Given the description of an element on the screen output the (x, y) to click on. 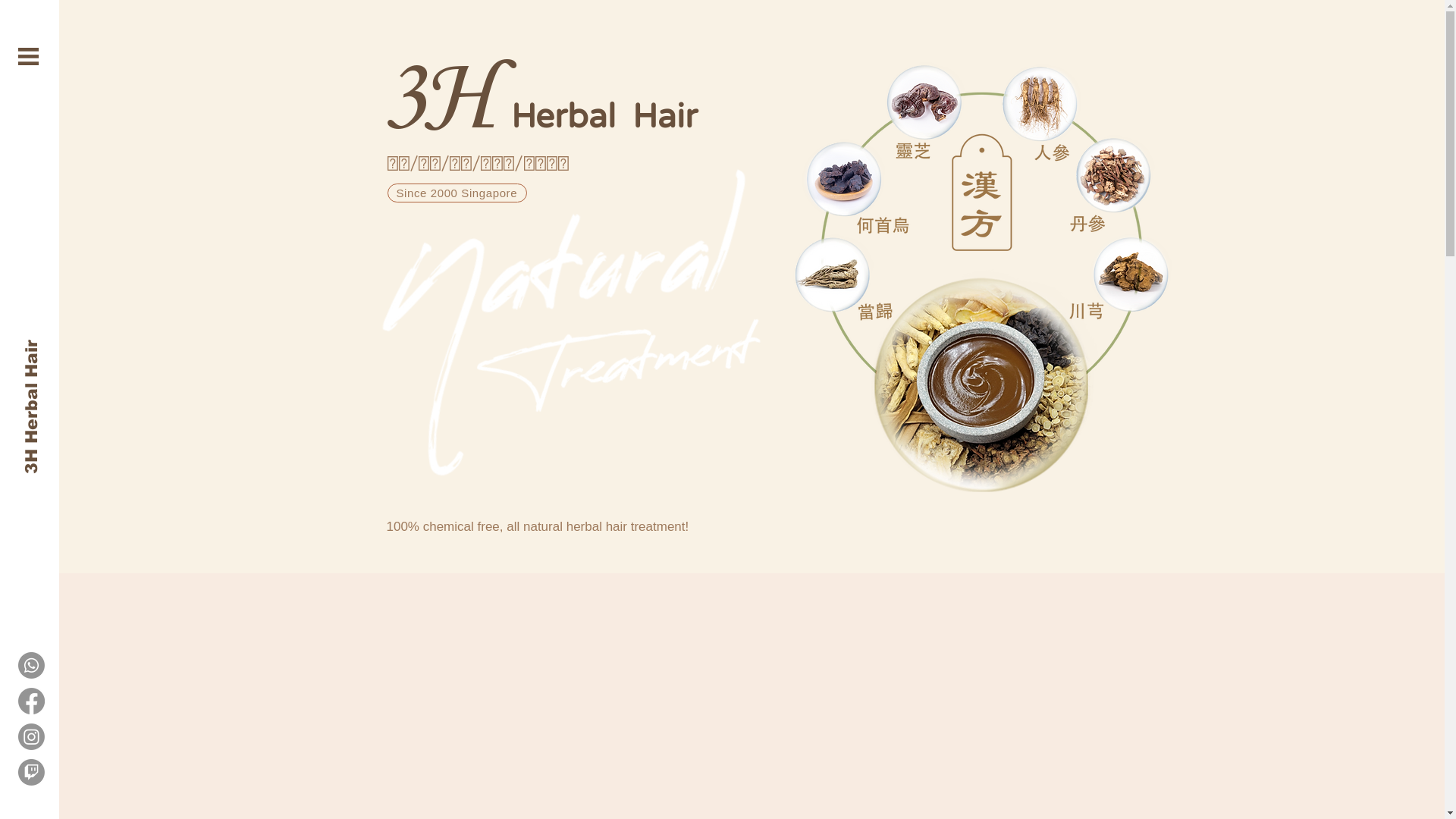
3H Herbal Hair Element type: text (161, 276)
